Given the description of an element on the screen output the (x, y) to click on. 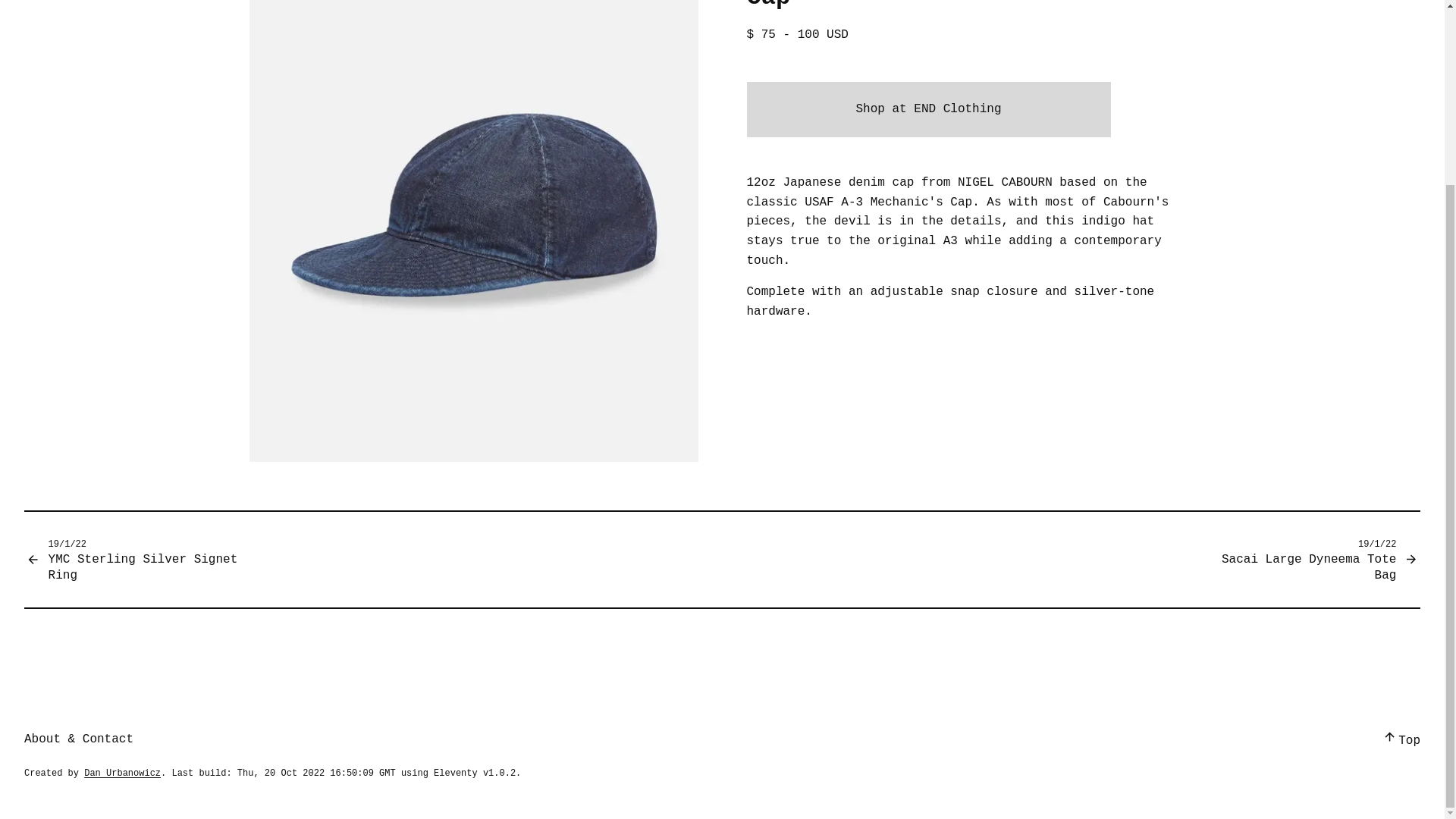
Dan Urbanowicz (122, 772)
Next Post (1299, 559)
Top (1400, 740)
Previous Post (145, 559)
Shop at END Clothing (927, 109)
